Given the description of an element on the screen output the (x, y) to click on. 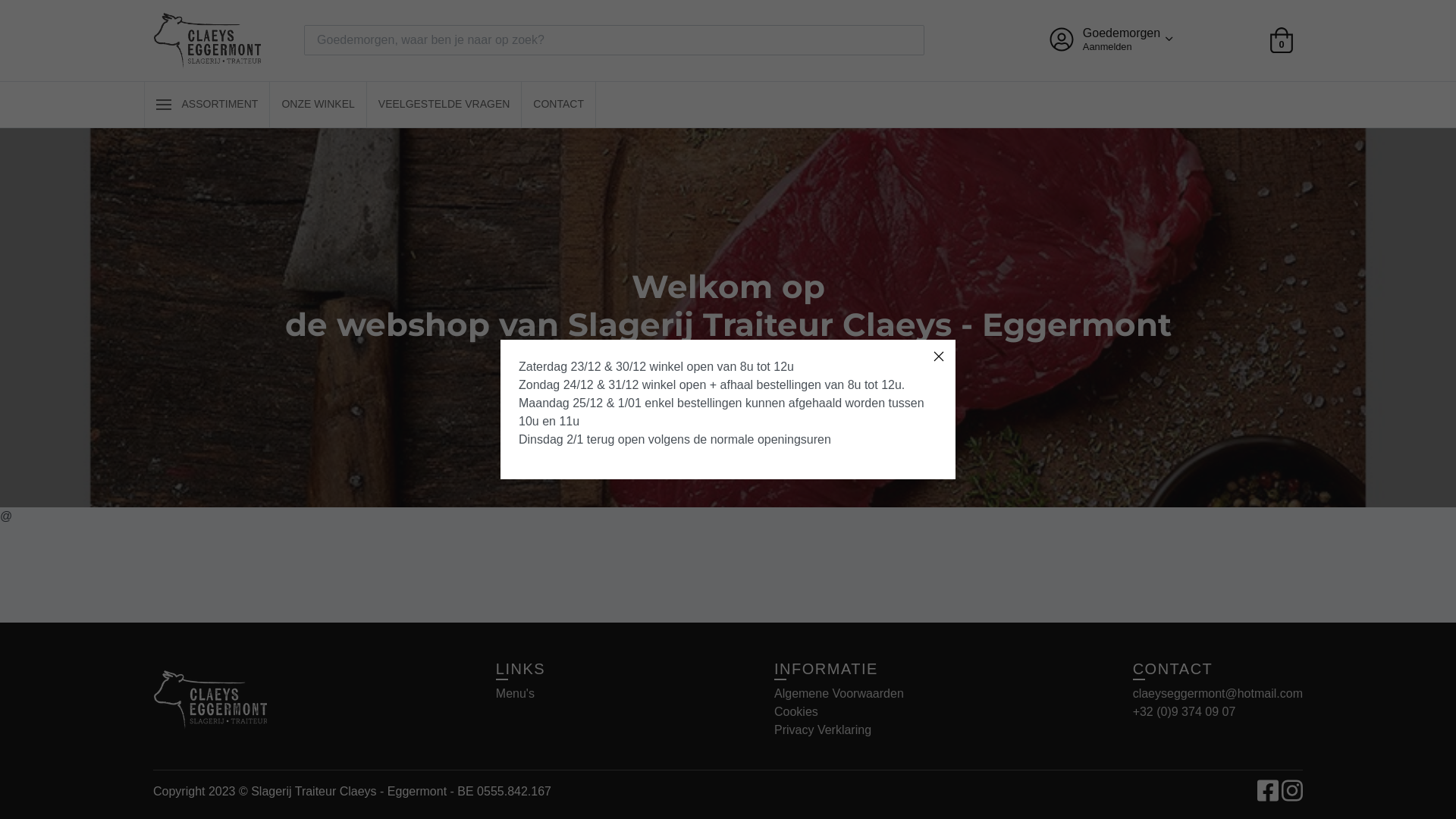
Algemene Voorwaarden Element type: text (838, 693)
+32 (0)9 374 09 07 Element type: text (1184, 711)
Cookies Element type: text (796, 711)
Menu's Element type: text (514, 693)
Goedemorgen
Aanmelden Element type: text (1109, 39)
ONZE WINKEL Element type: text (317, 104)
ASSORTIMENT Element type: text (206, 104)
0 Element type: text (1281, 40)
claeyseggermont@hotmail.com Element type: text (1217, 693)
CONTACT Element type: text (558, 104)
VEELGESTELDE VRAGEN Element type: text (444, 104)
Privacy Verklaring Element type: text (822, 729)
